Given the description of an element on the screen output the (x, y) to click on. 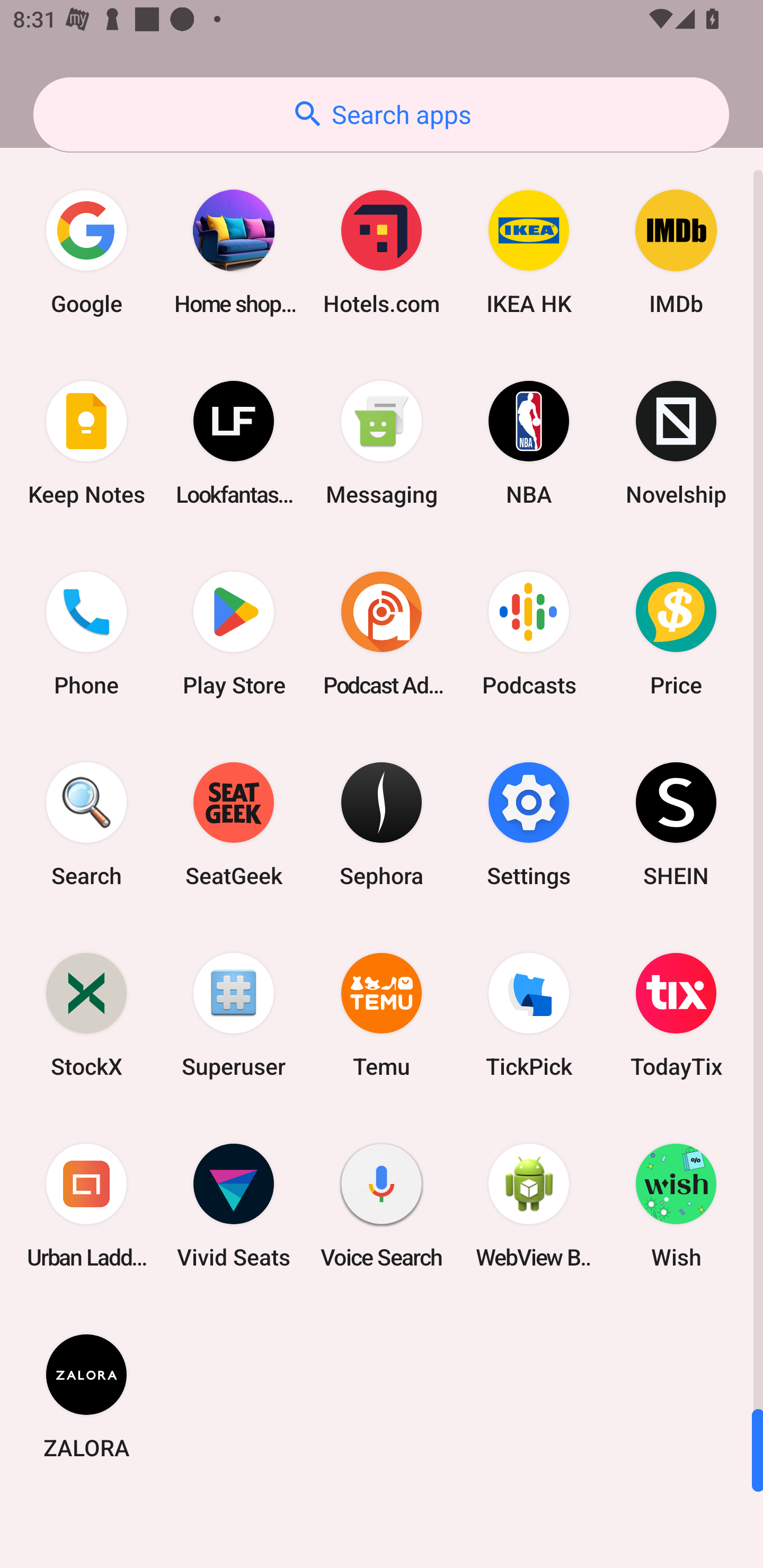
  Search apps (381, 114)
Google (86, 252)
Home shopping (233, 252)
Hotels.com (381, 252)
IKEA HK (528, 252)
IMDb (676, 252)
Keep Notes (86, 442)
Lookfantastic (233, 442)
Messaging (381, 442)
NBA (528, 442)
Novelship (676, 442)
Phone (86, 633)
Play Store (233, 633)
Podcast Addict (381, 633)
Podcasts (528, 633)
Price (676, 633)
Search (86, 823)
SeatGeek (233, 823)
Sephora (381, 823)
Settings (528, 823)
SHEIN (676, 823)
StockX (86, 1014)
Superuser (233, 1014)
Temu (381, 1014)
TickPick (528, 1014)
TodayTix (676, 1014)
Urban Ladder (86, 1205)
Vivid Seats (233, 1205)
Voice Search (381, 1205)
WebView Browser Tester (528, 1205)
Wish (676, 1205)
ZALORA (86, 1396)
